Given the description of an element on the screen output the (x, y) to click on. 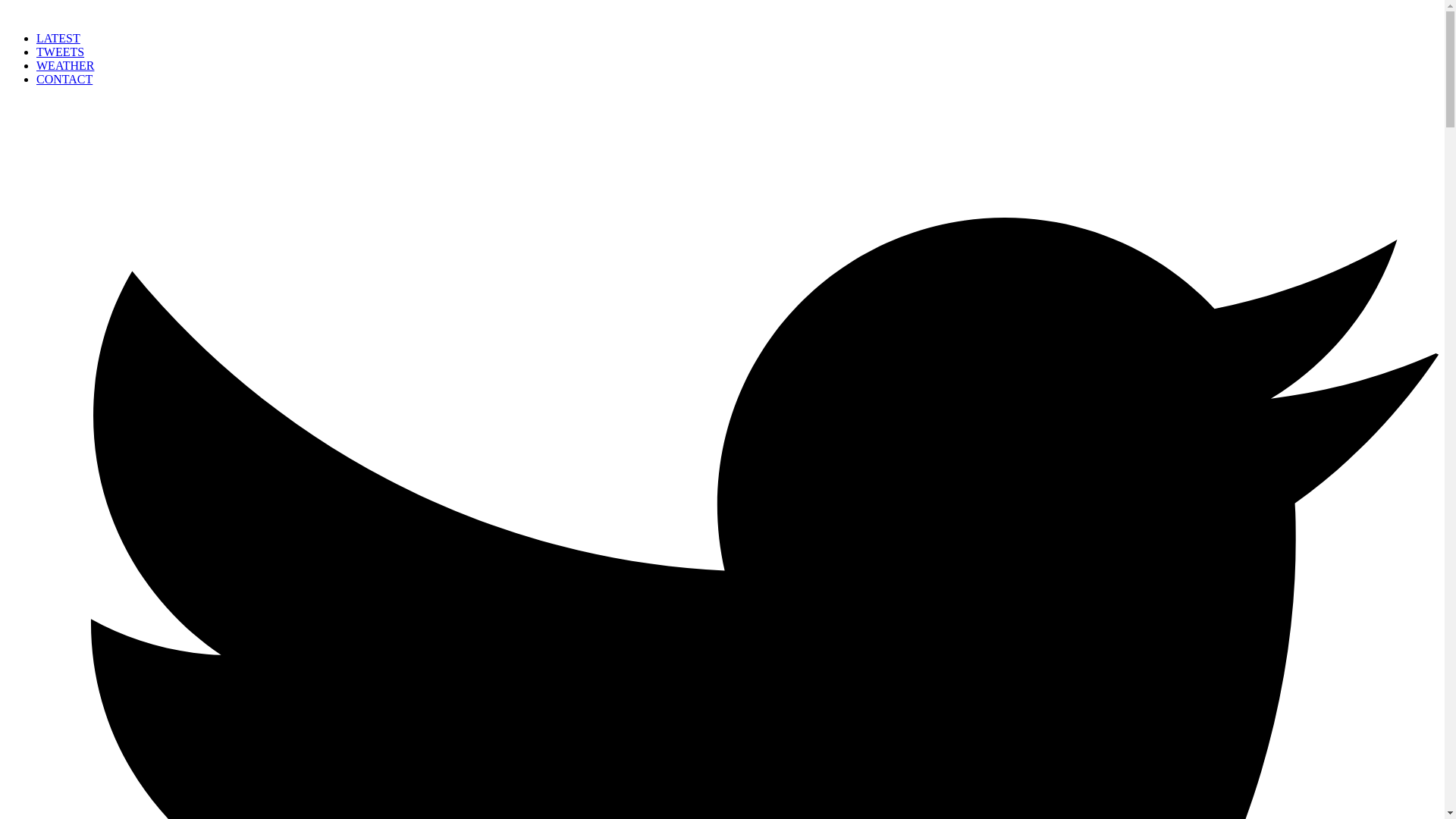
CONTACT (64, 78)
WEATHER (65, 65)
TWEETS (60, 51)
LATEST (58, 38)
